Given the description of an element on the screen output the (x, y) to click on. 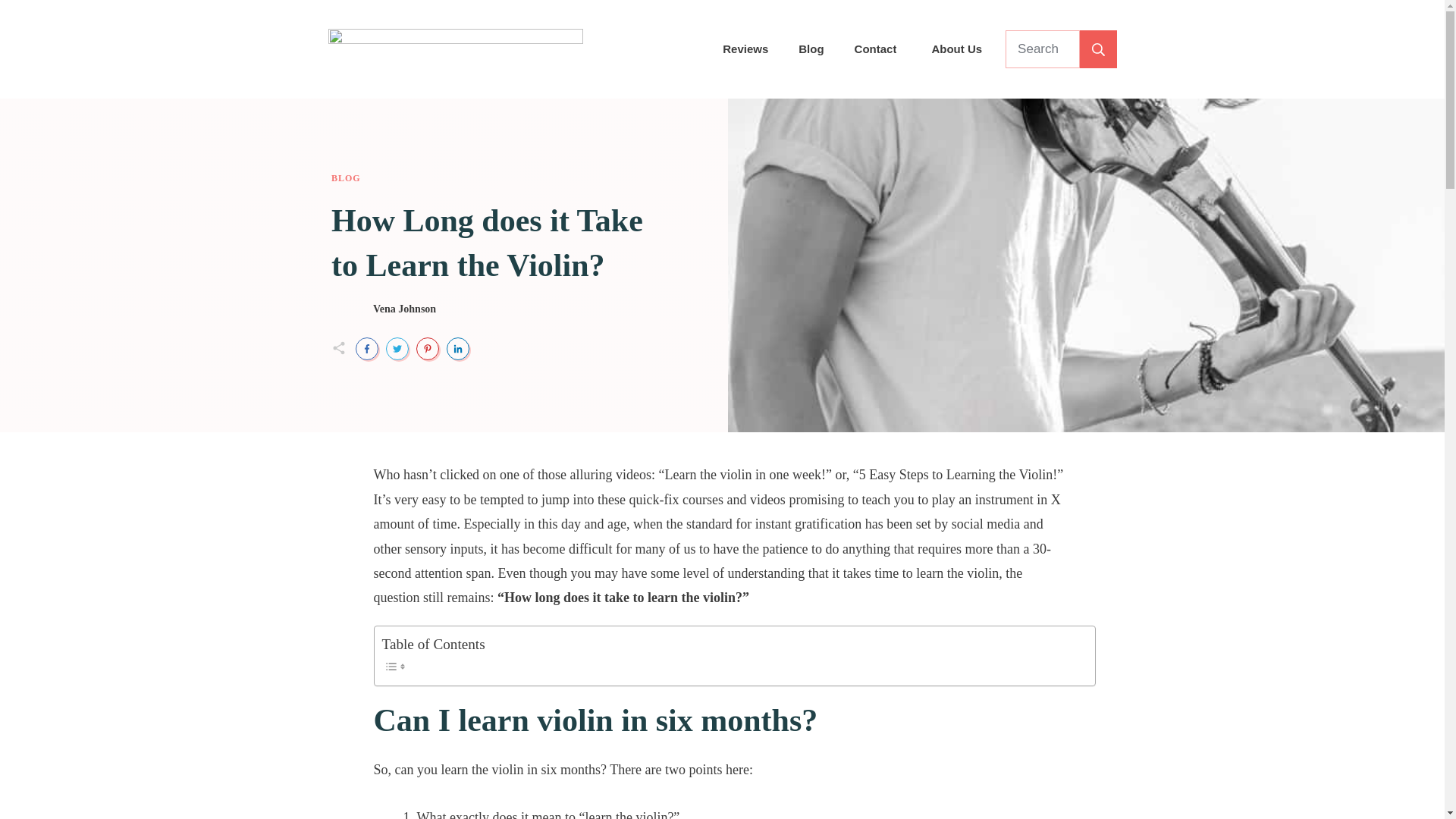
About Us (956, 48)
BLOG (346, 177)
How Long does it Take to Learn the Violin? (487, 242)
Blog (346, 177)
How Long does it Take to Learn the Violin? (487, 242)
Blog (810, 48)
Contact (875, 48)
Reviews (745, 48)
